Given the description of an element on the screen output the (x, y) to click on. 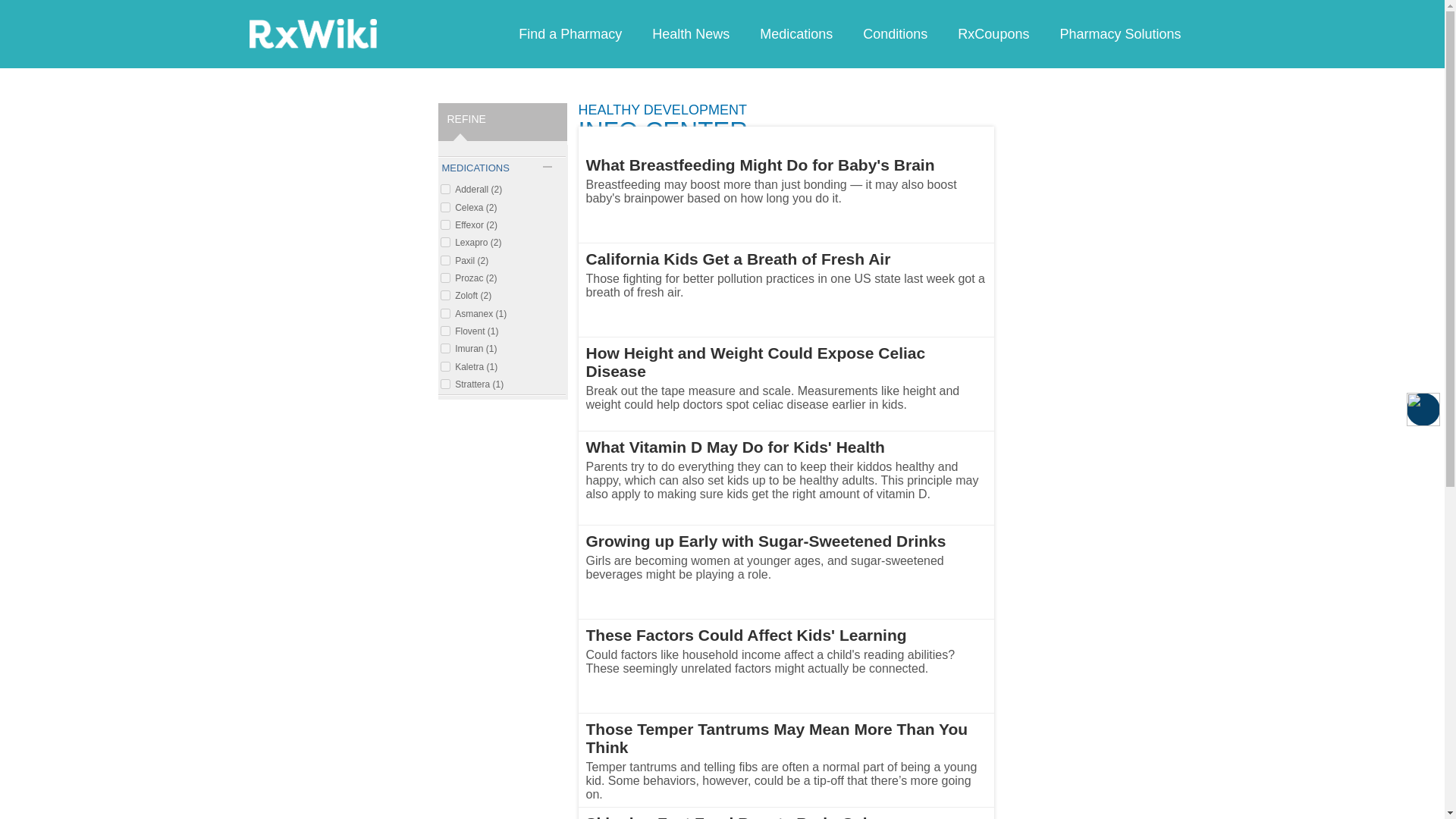
on (444, 242)
on (444, 207)
on (444, 366)
on (444, 384)
on (444, 330)
on (444, 225)
on (444, 295)
Conditions (894, 33)
on (444, 347)
